Given the description of an element on the screen output the (x, y) to click on. 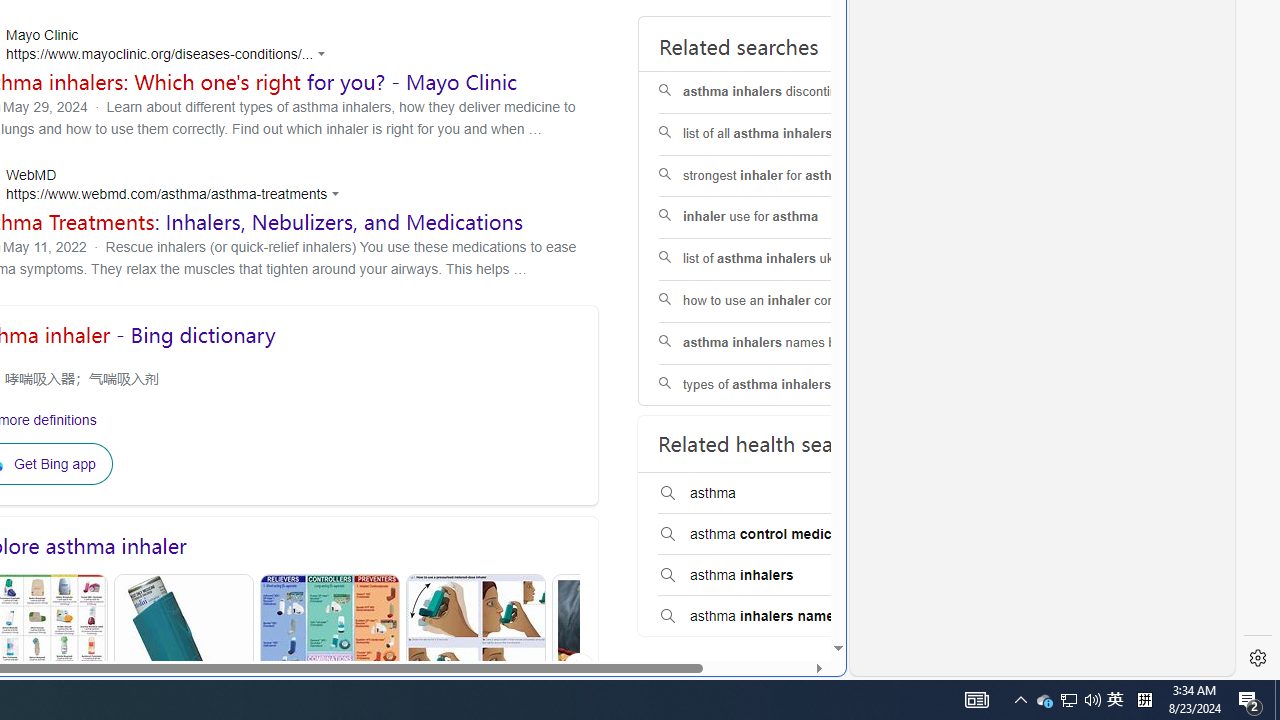
Search more (792, 588)
asthma inhalers names brands (785, 343)
inhaler use for asthma (785, 218)
asthma (785, 493)
how to use an inhaler correctly (785, 300)
inhaler use for asthma (785, 218)
how to use an inhaler correctly (785, 301)
asthma inhalers discontinued (785, 92)
asthma inhalers names brands (785, 342)
